Given the description of an element on the screen output the (x, y) to click on. 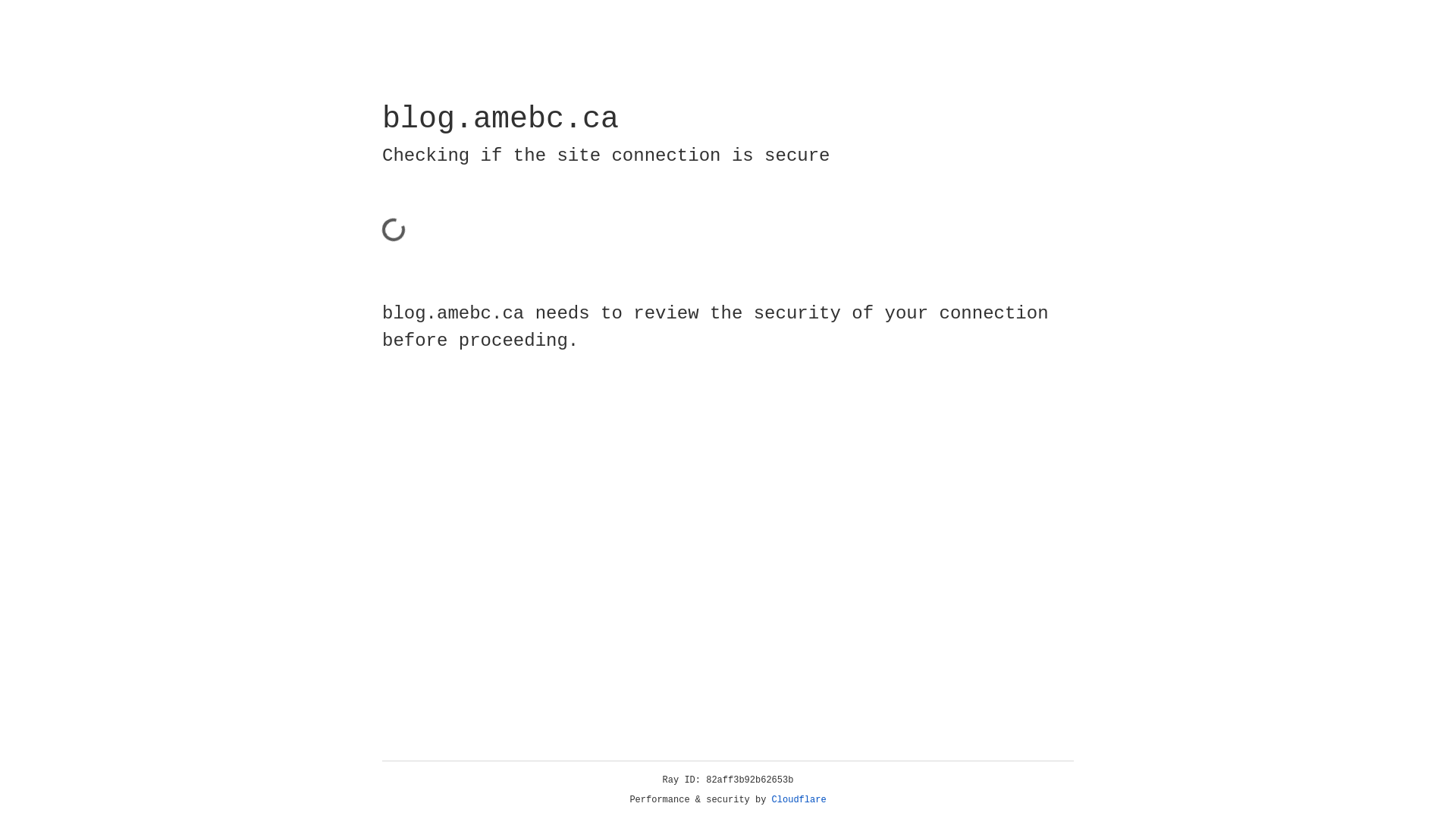
Cloudflare Element type: text (798, 799)
